Given the description of an element on the screen output the (x, y) to click on. 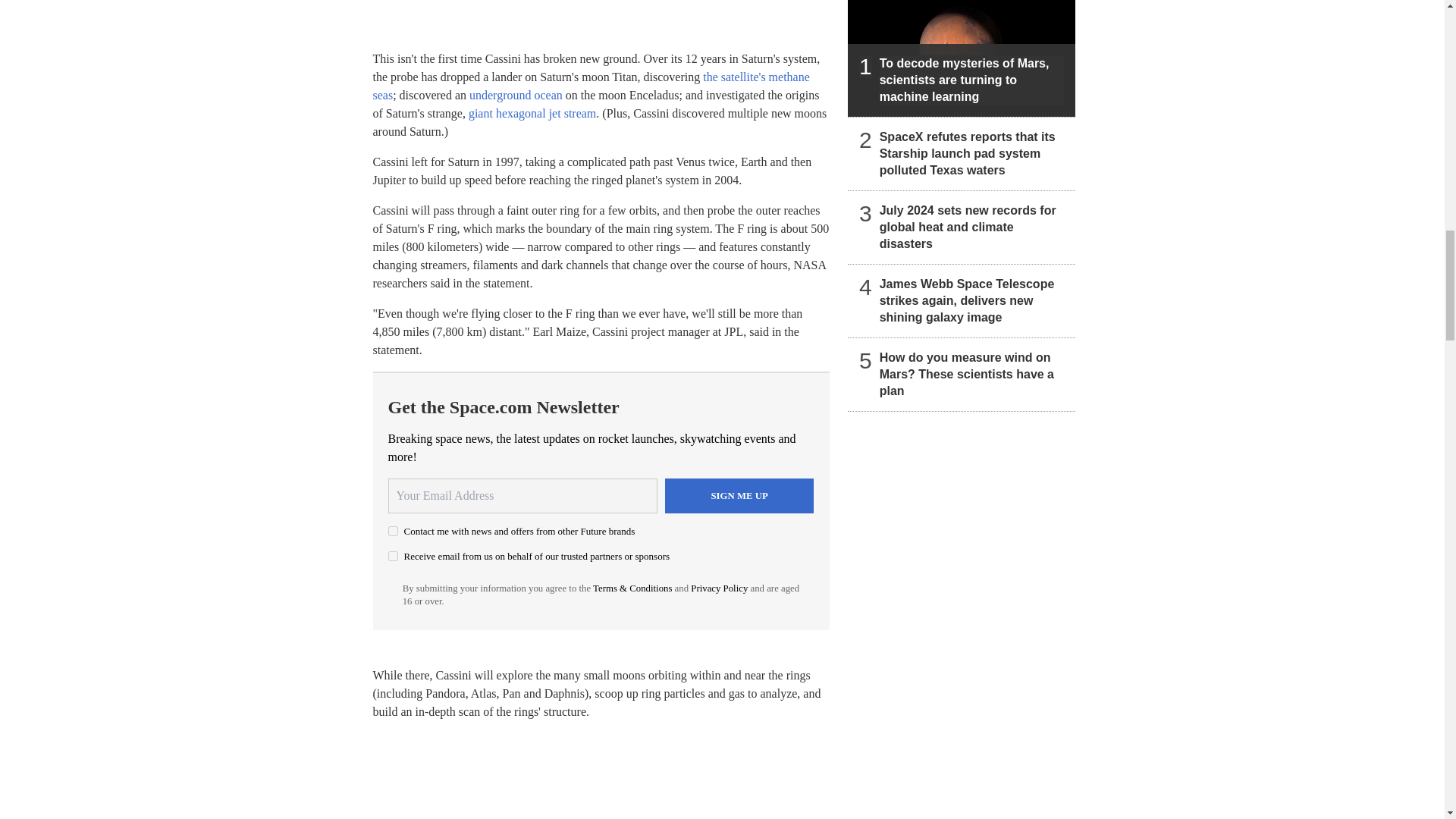
on (392, 531)
on (392, 556)
Sign me up (739, 495)
